Given the description of an element on the screen output the (x, y) to click on. 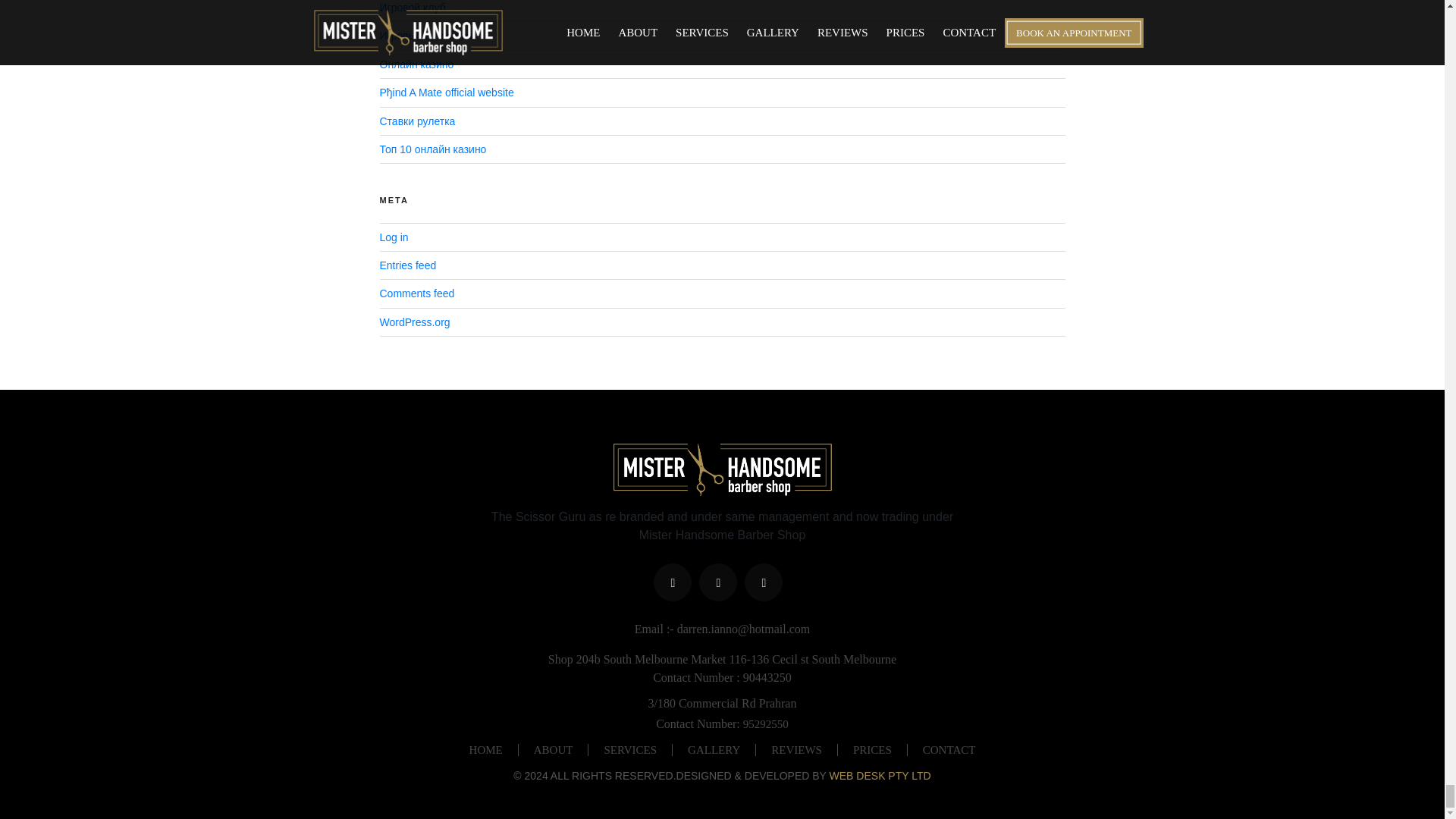
Reviews (796, 749)
Services (629, 749)
Home (486, 749)
Gallery (713, 749)
Contact (949, 749)
About (553, 749)
Prices (872, 749)
